Given the description of an element on the screen output the (x, y) to click on. 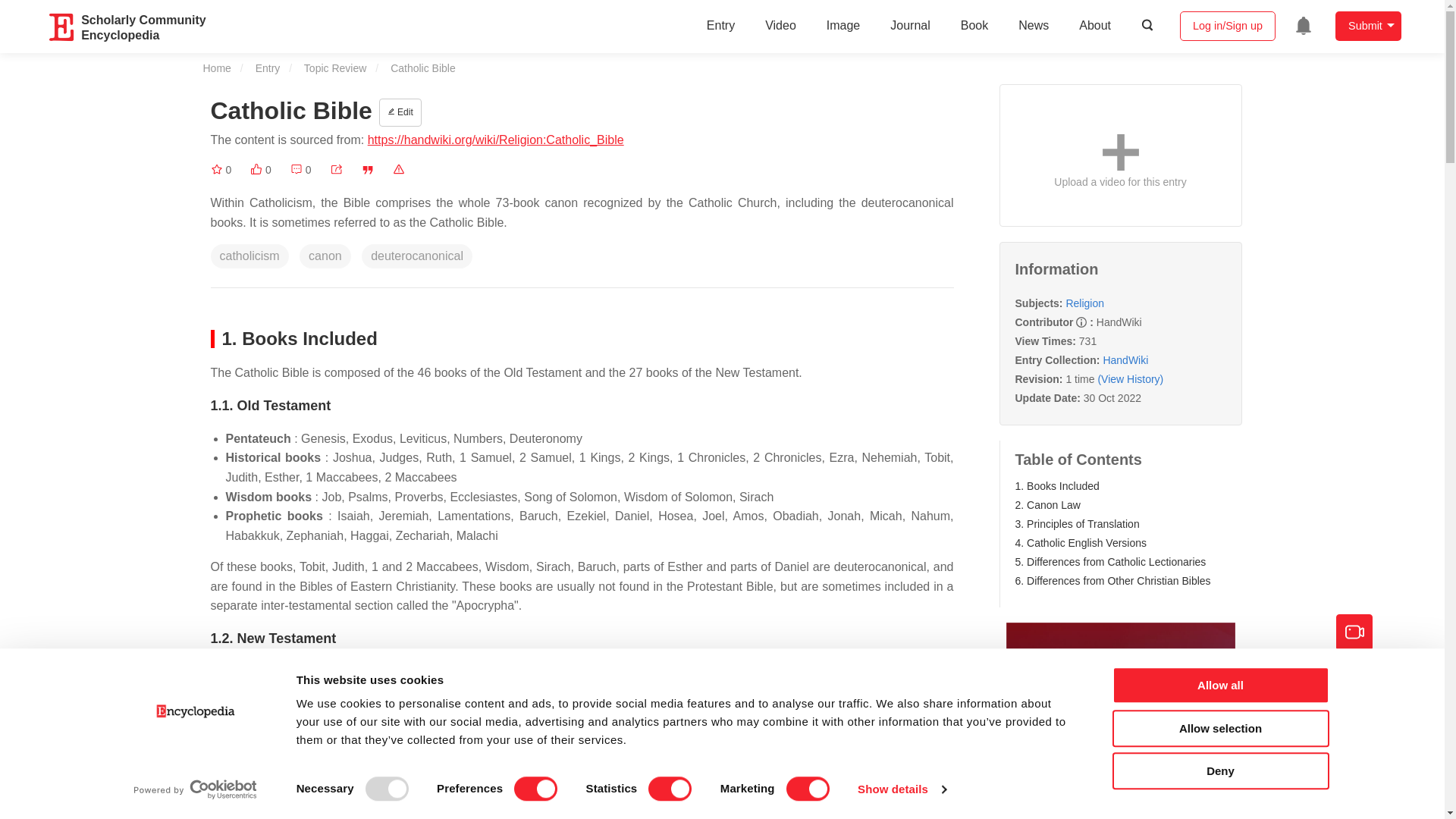
Comment (300, 169)
Edit (400, 112)
Favorite (221, 169)
Like (260, 169)
Show details (900, 789)
